Given the description of an element on the screen output the (x, y) to click on. 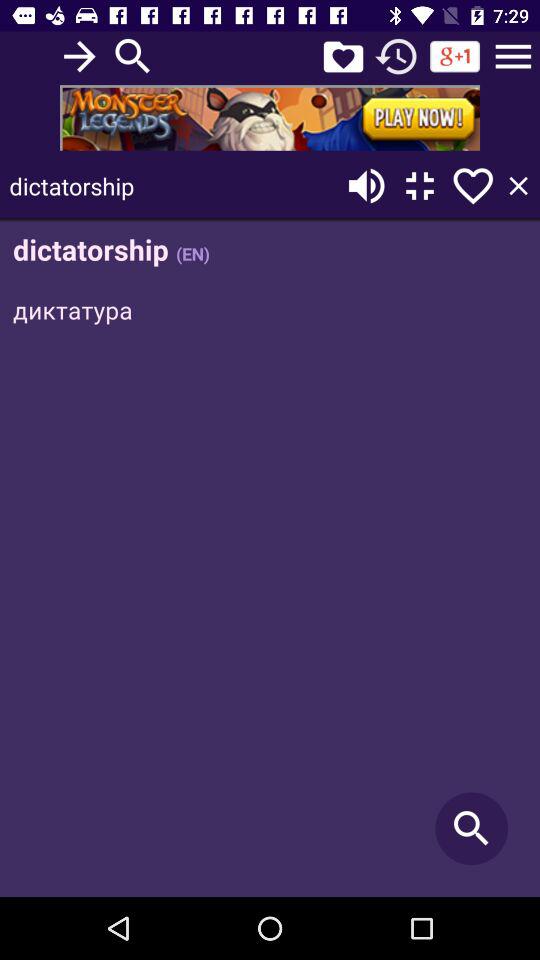
refresh option (396, 56)
